Given the description of an element on the screen output the (x, y) to click on. 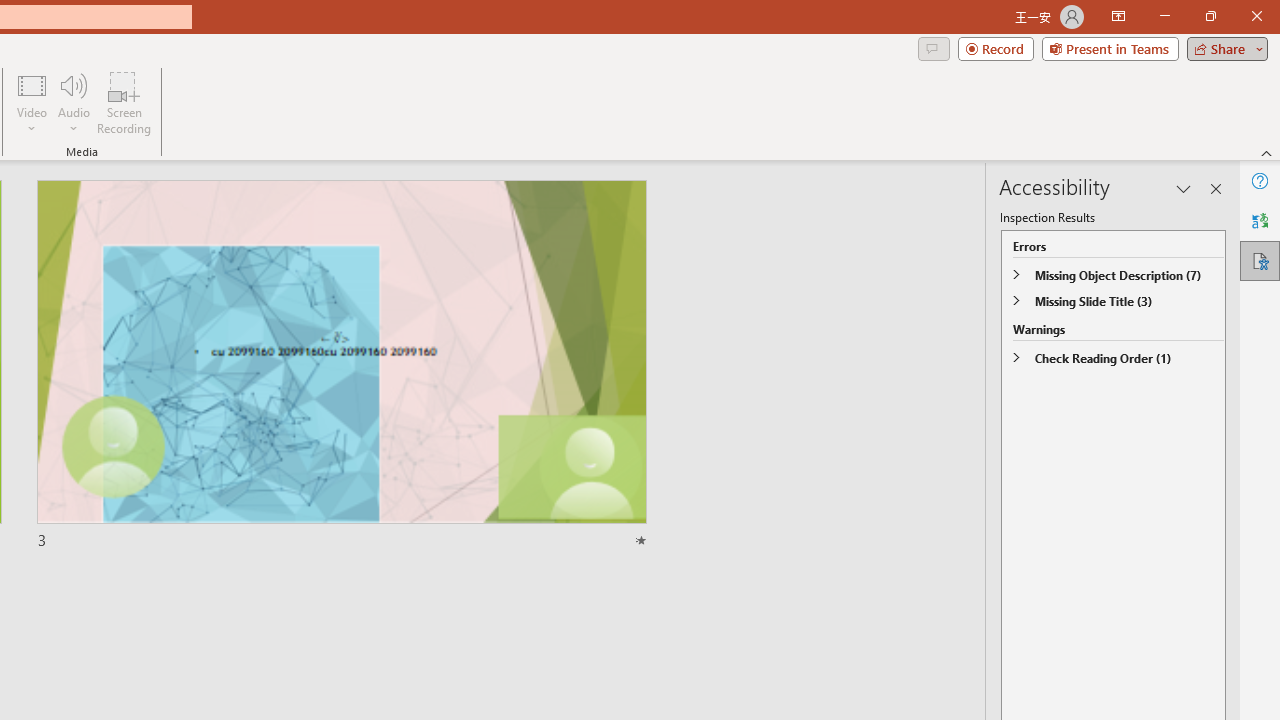
Video (31, 102)
Screen Recording... (123, 102)
